Given the description of an element on the screen output the (x, y) to click on. 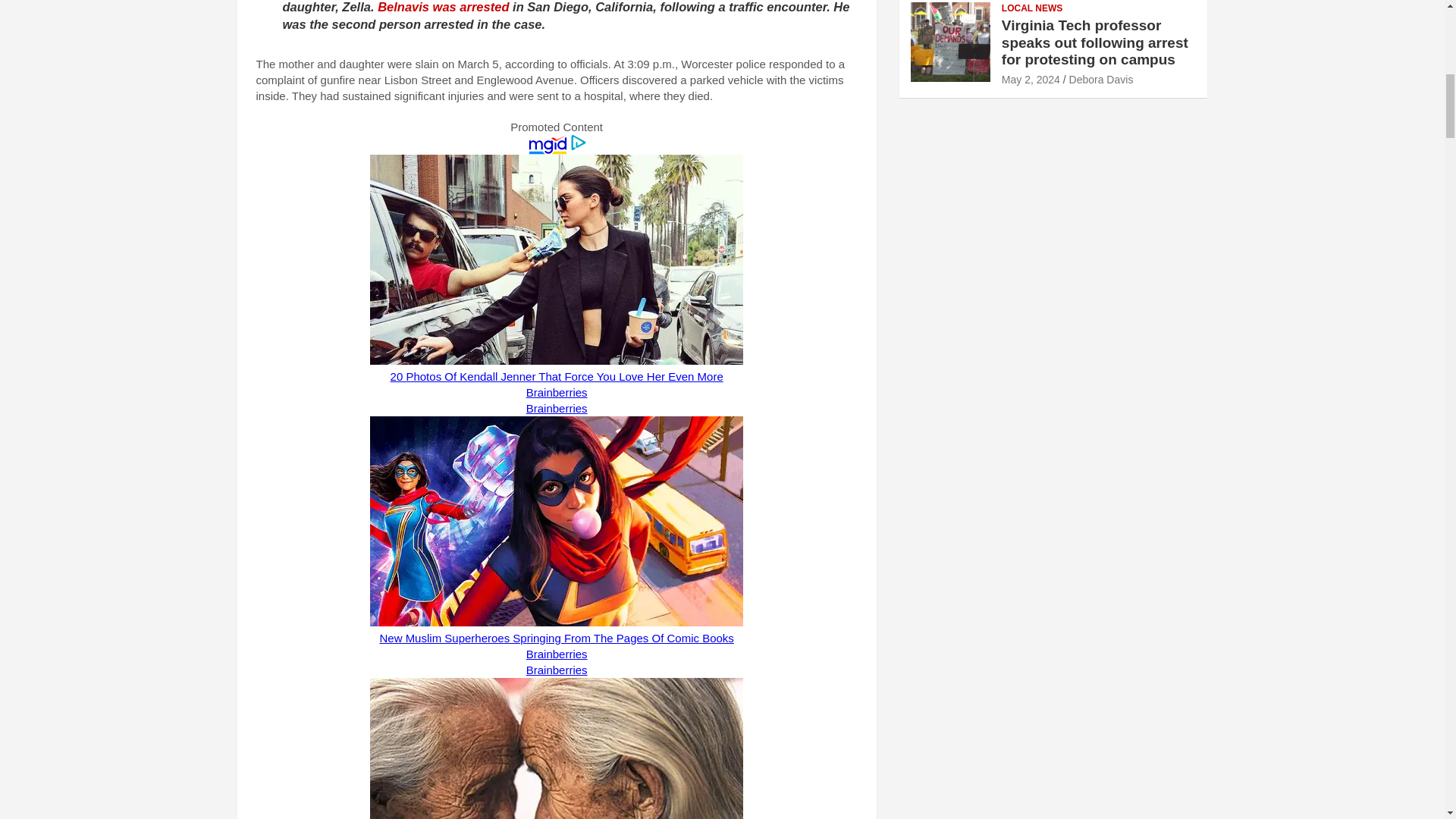
Belnavis was arrested (442, 6)
